Given the description of an element on the screen output the (x, y) to click on. 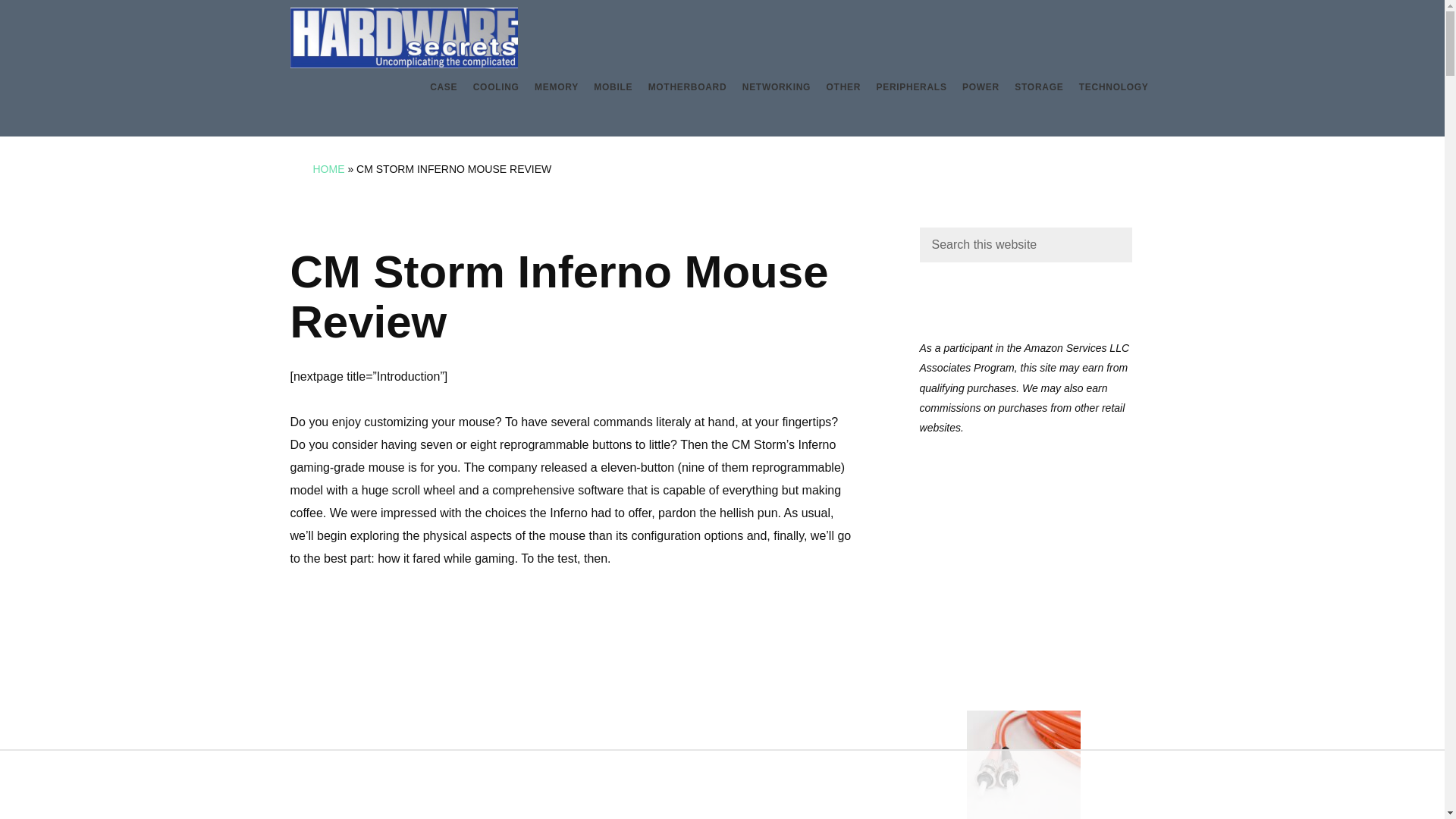
TECHNOLOGY (1113, 87)
COOLING (496, 87)
POWER (980, 87)
MEMORY (556, 87)
NETWORKING (776, 87)
MOTHERBOARD (686, 87)
OTHER (844, 87)
MOBILE (612, 87)
